Given the description of an element on the screen output the (x, y) to click on. 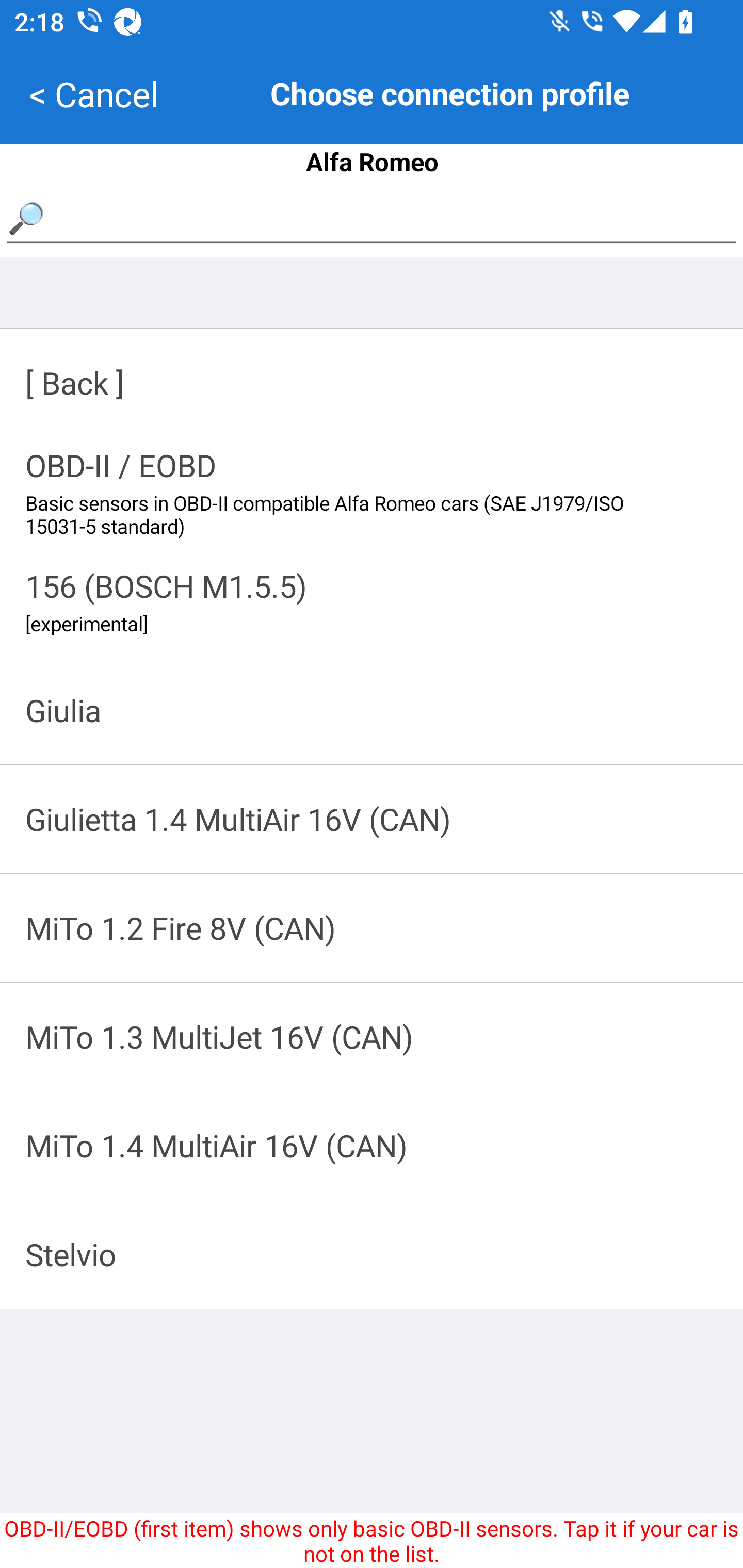
< Cancel (93, 93)
🔎 (371, 217)
[ Back ] (371, 383)
156 (BOSCH M1.5.5) [experimental] (371, 601)
Giulia (371, 710)
Giulietta 1.4 MultiAir 16V (CAN) (371, 819)
MiTo 1.2 Fire 8V (CAN) (371, 927)
MiTo 1.3 MultiJet 16V (CAN) (371, 1037)
MiTo 1.4 MultiAir 16V (CAN) (371, 1145)
Stelvio (371, 1254)
